Given the description of an element on the screen output the (x, y) to click on. 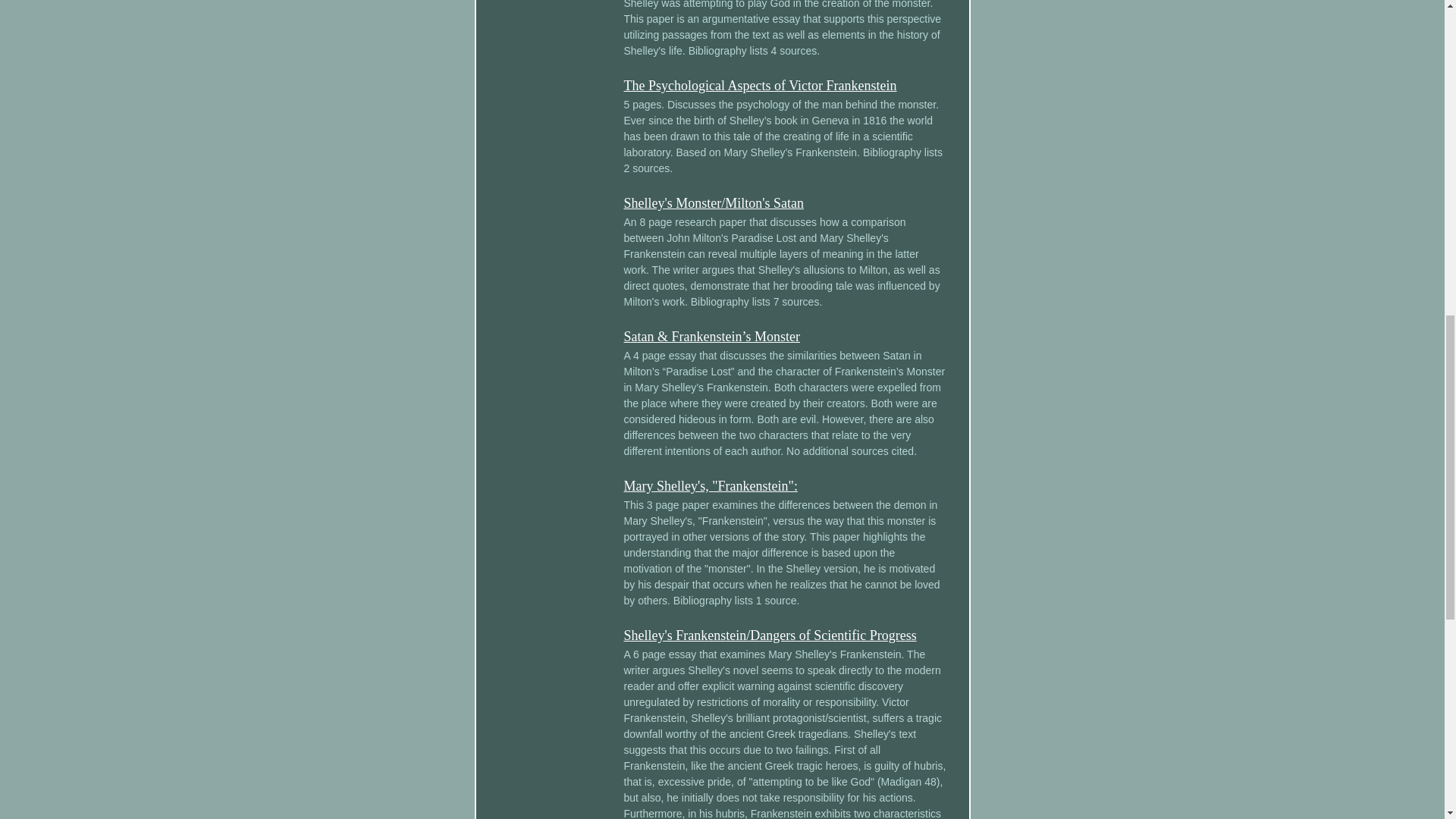
The Psychological Aspects of Victor Frankenstein (759, 85)
Mary Shelley's, "Frankenstein": (709, 485)
